Given the description of an element on the screen output the (x, y) to click on. 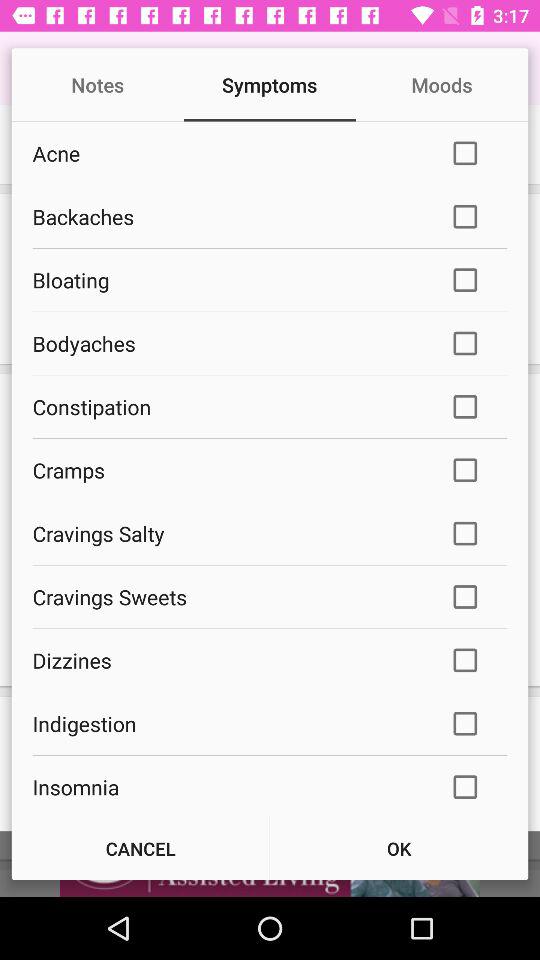
press dizzines (227, 660)
